Given the description of an element on the screen output the (x, y) to click on. 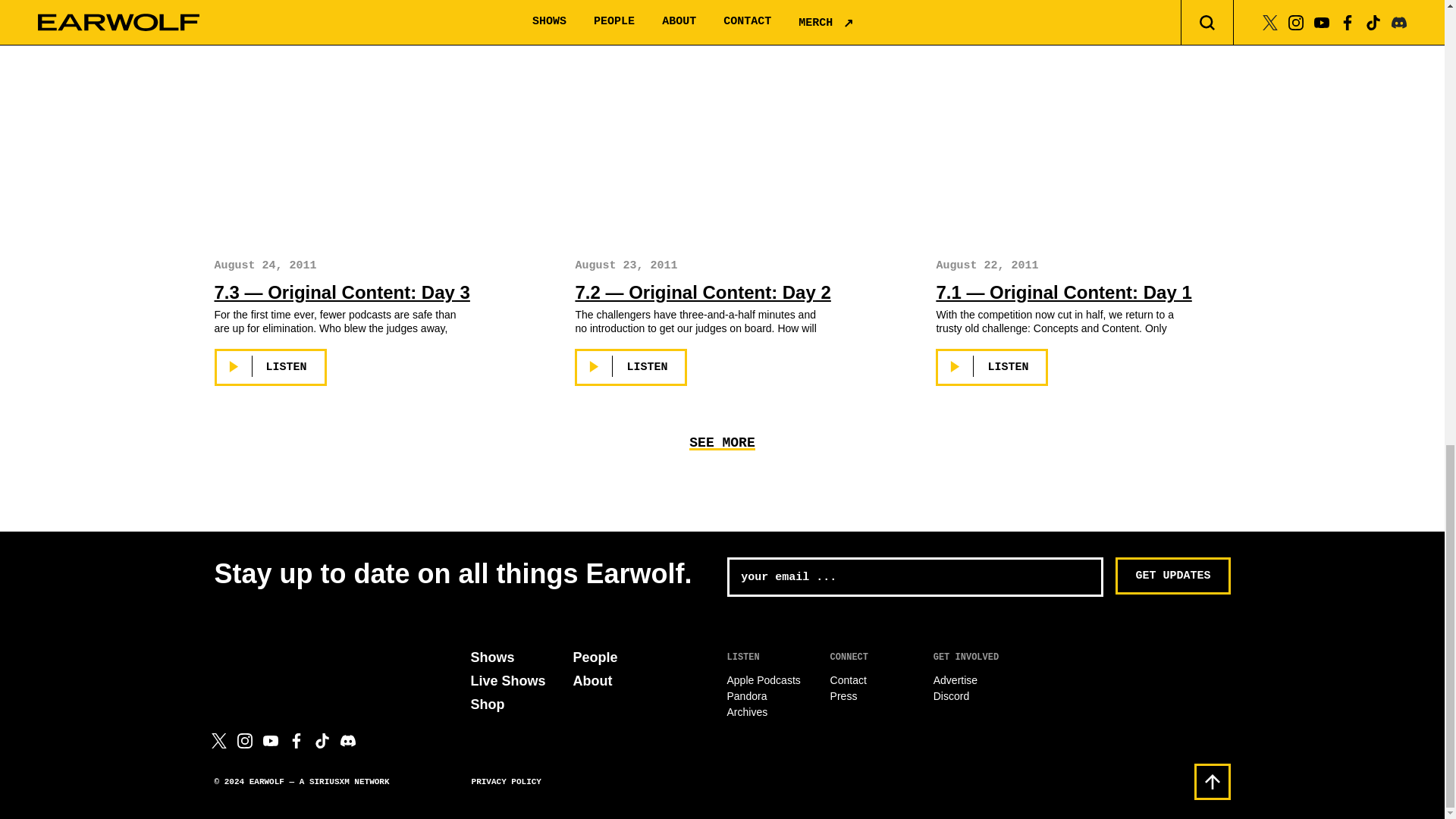
LISTEN (992, 366)
LISTEN (631, 366)
LISTEN (631, 1)
Earwolf (283, 657)
Instagram (243, 740)
LISTEN (270, 1)
LISTEN (992, 1)
LISTEN (270, 366)
Get Updates (1172, 575)
